Given the description of an element on the screen output the (x, y) to click on. 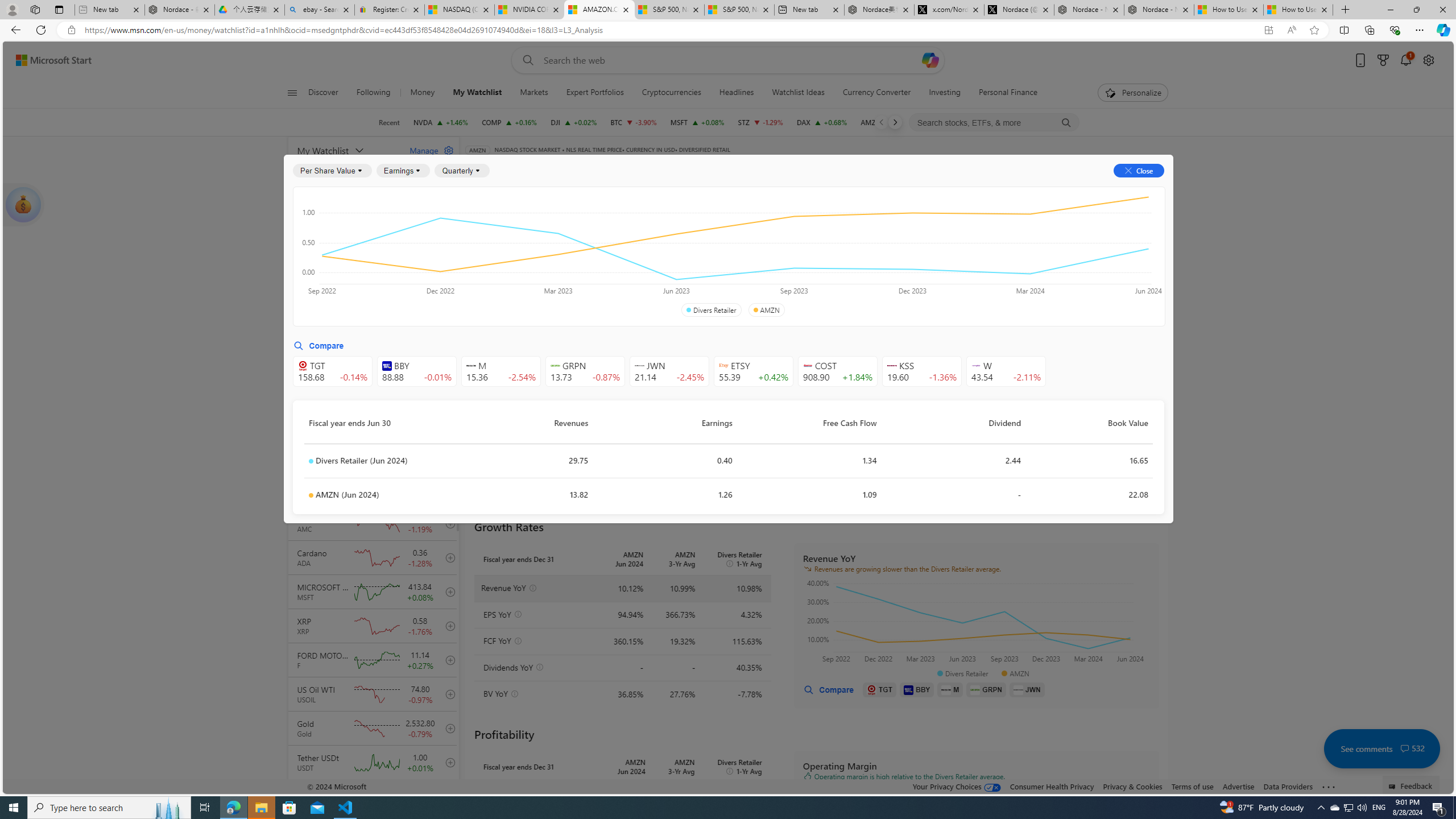
DJI DOW increase 41,250.50 +9.98 +0.02% (573, 122)
MSFT MICROSOFT CORPORATION increase 413.84 +0.35 +0.08% (696, 122)
Sentiment (1066, 188)
Class: text-DS-EntryPoint1-3 (888, 254)
Microsoft rewards (1382, 60)
My Watchlist (346, 150)
Watchlist (654, 166)
Enter your search term (730, 59)
Balance Sheet (614, 223)
Register: Create a personal eBay account (389, 9)
Divers Retailer (711, 310)
